Given the description of an element on the screen output the (x, y) to click on. 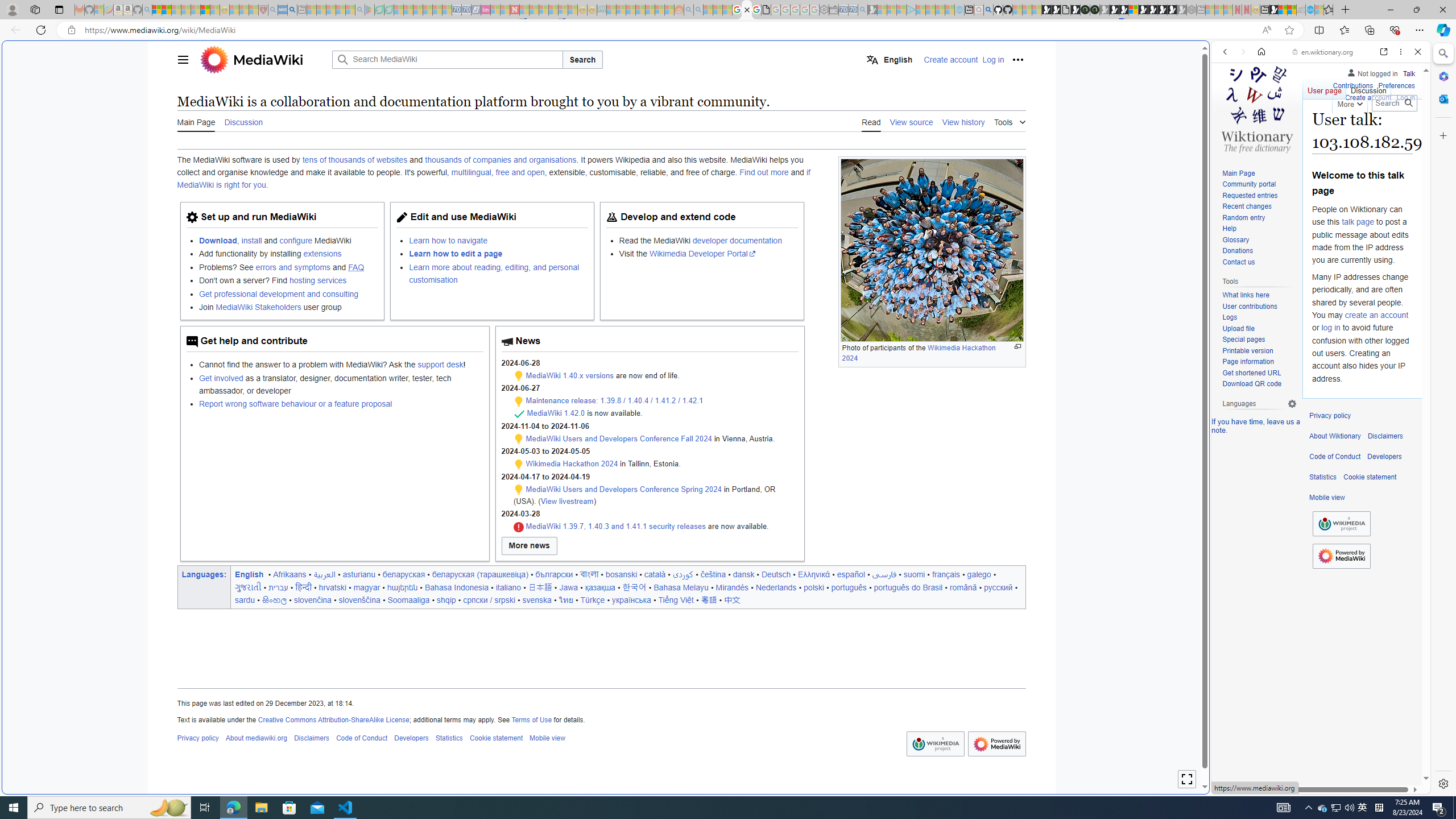
Not logged in (1371, 71)
Donations (1237, 250)
Powered by MediaWiki (1341, 556)
Special pages (1259, 339)
Code of Conduct (1334, 456)
Logs (1259, 317)
Don't own a server? Find hosting services (288, 280)
Jawa (568, 587)
